Given the description of an element on the screen output the (x, y) to click on. 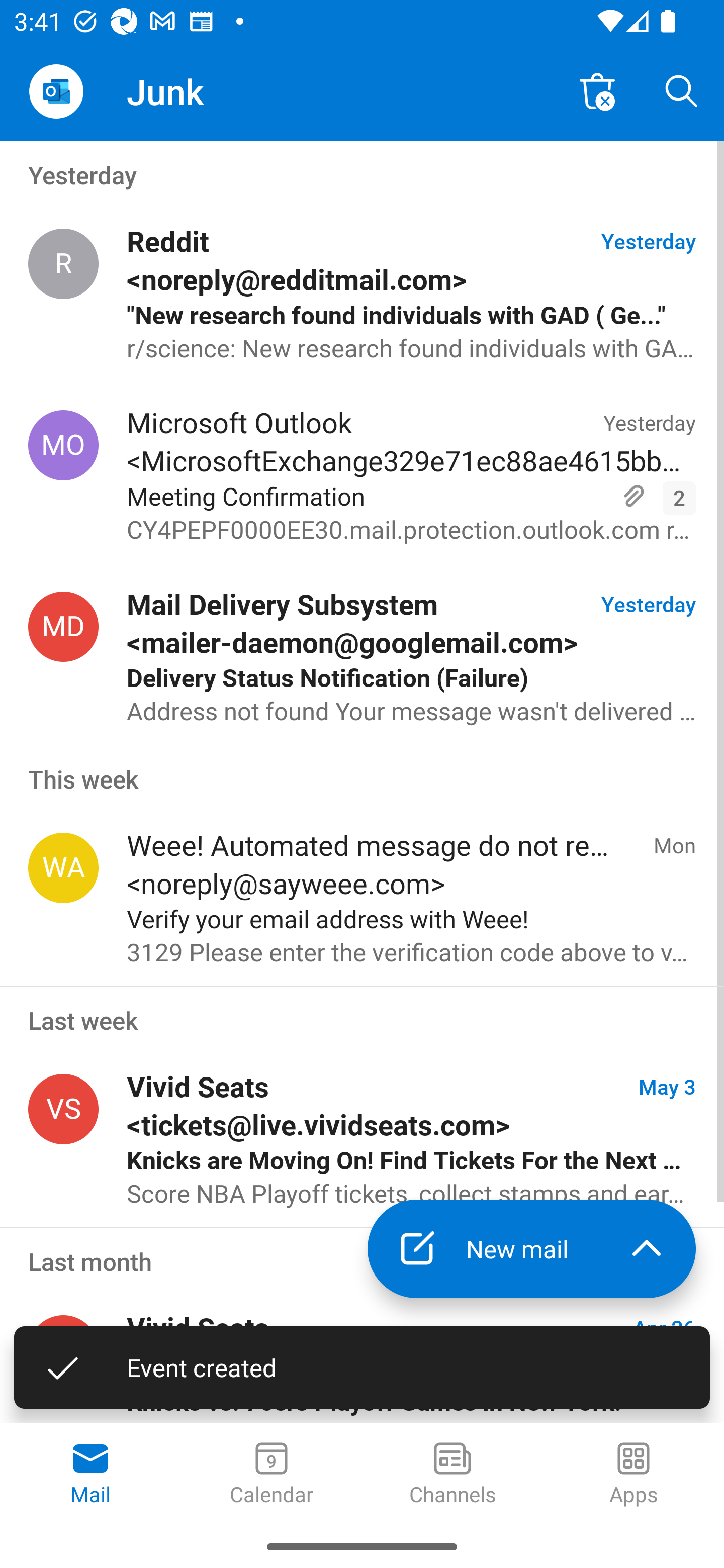
Empty Junk (597, 90)
Search, ,  (681, 90)
Open Navigation Drawer (55, 91)
Reddit, noreply@redditmail.com (63, 263)
Vivid Seats, tickets@live.vividseats.com (63, 1109)
New mail (481, 1248)
launch the extended action menu (646, 1248)
Calendar (271, 1474)
Channels (452, 1474)
Apps (633, 1474)
